Given the description of an element on the screen output the (x, y) to click on. 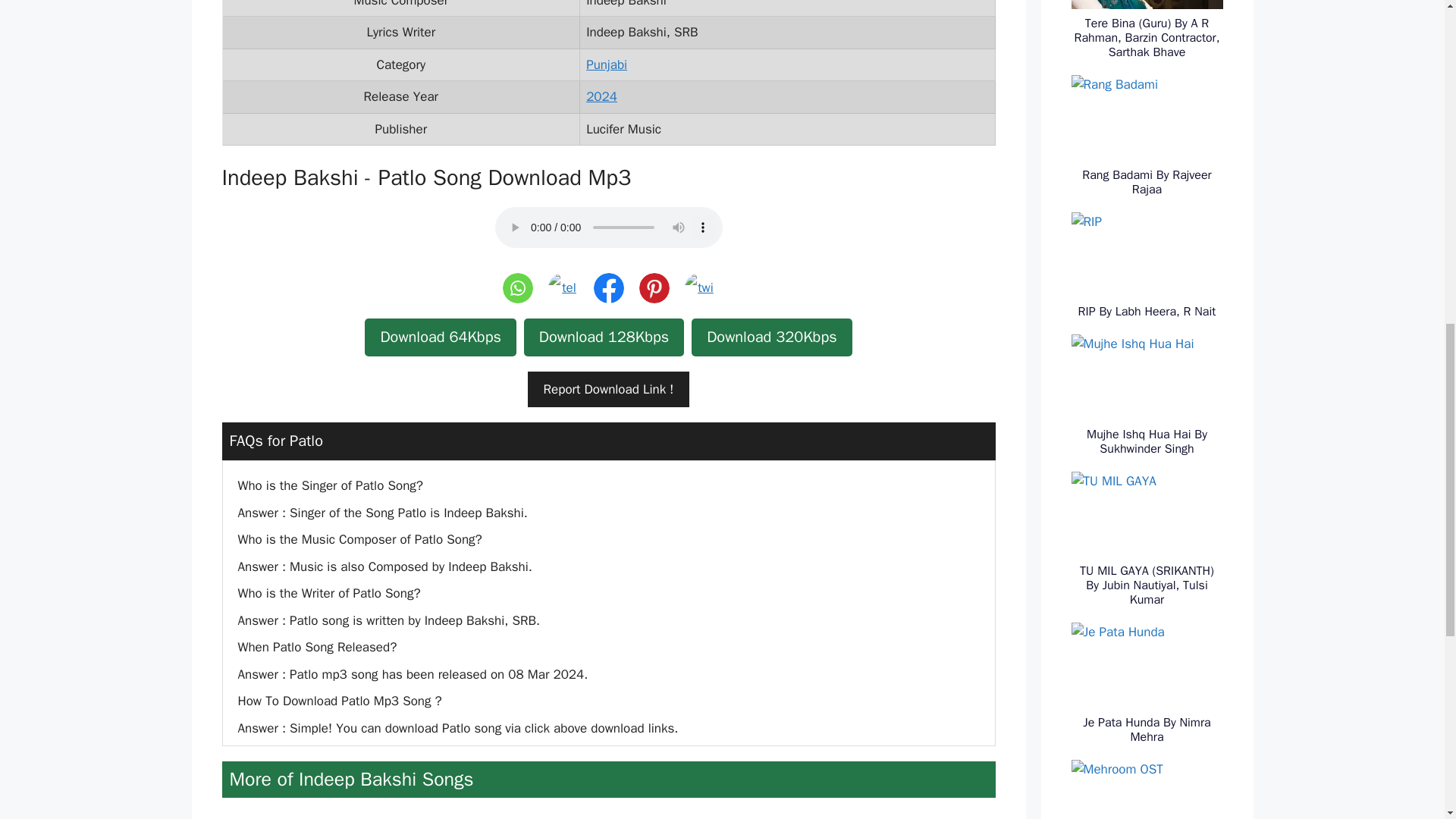
Punjabi (606, 64)
Patlo (607, 287)
Patlo (517, 287)
Patlo (653, 287)
Report Download Link ! (608, 389)
Download 320Kbps (771, 337)
2024 (601, 96)
Download 128Kbps (604, 337)
Download 64Kbps (440, 337)
